Given the description of an element on the screen output the (x, y) to click on. 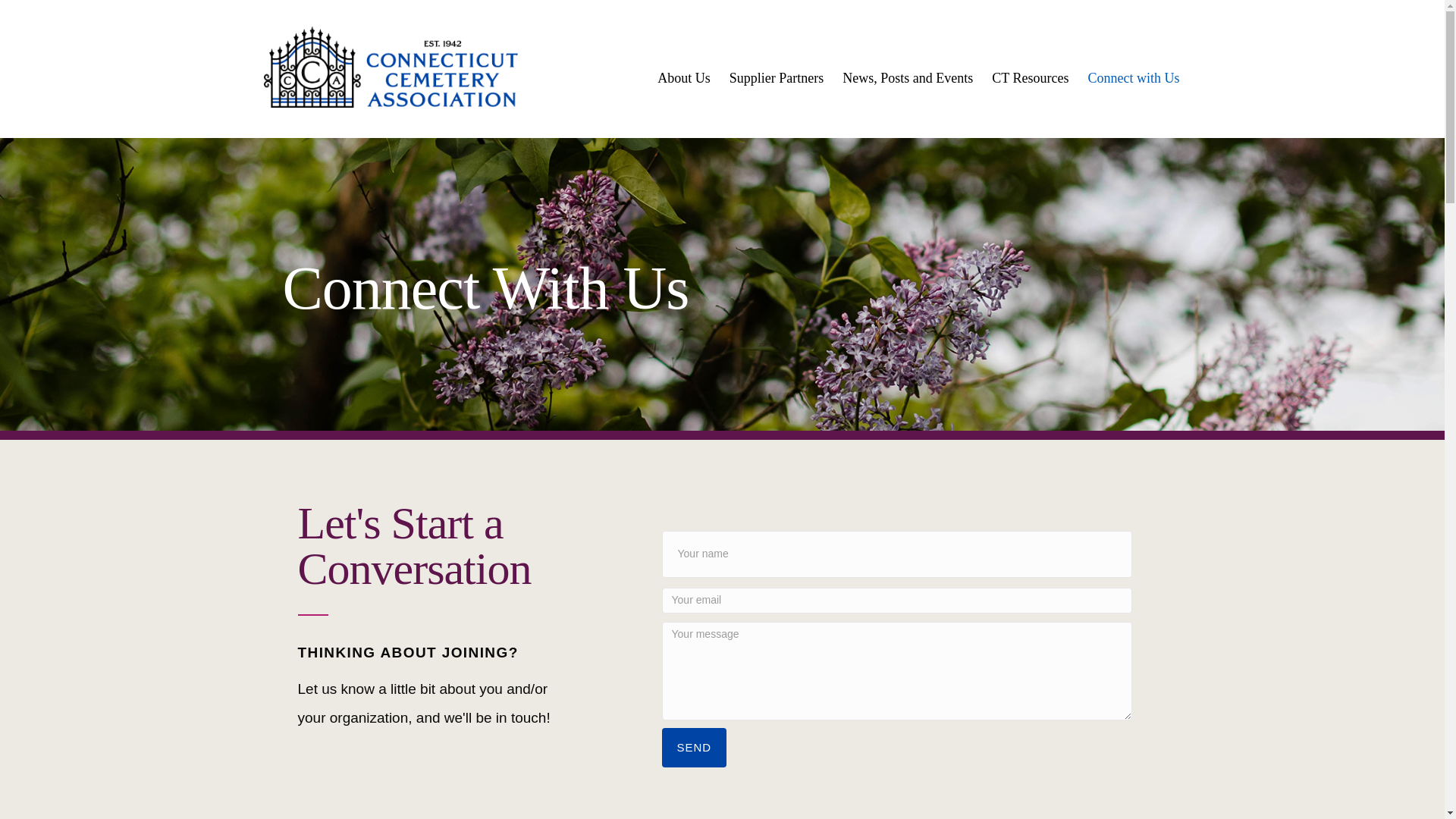
Connect with Us (1133, 78)
News, Posts and Events (906, 78)
SEND (693, 748)
About Us (683, 78)
CT Resources (1029, 78)
Supplier Partners (776, 78)
